Given the description of an element on the screen output the (x, y) to click on. 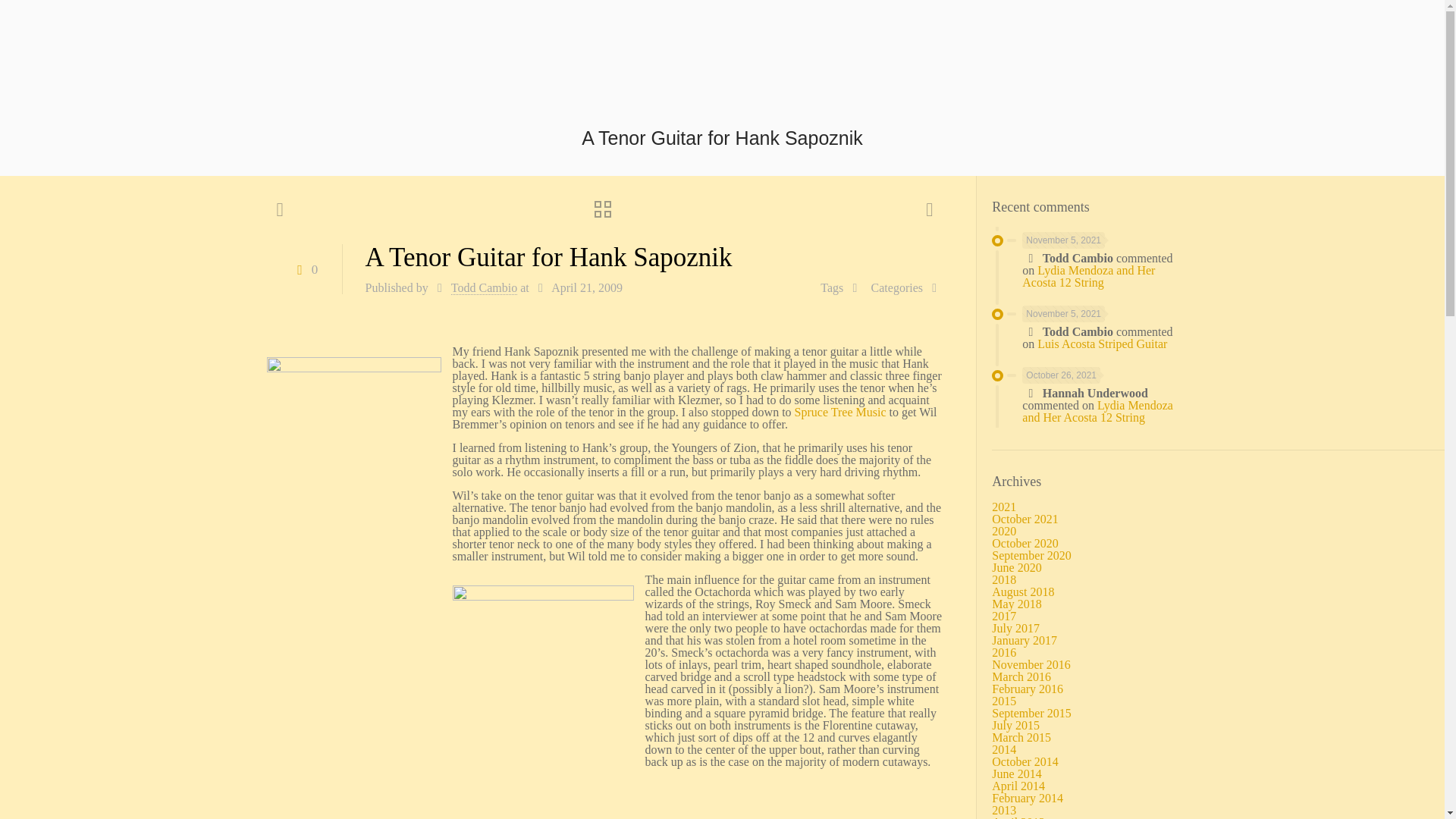
Todd Cambio (483, 287)
Spruce Tree Music (840, 411)
0 (303, 269)
